Given the description of an element on the screen output the (x, y) to click on. 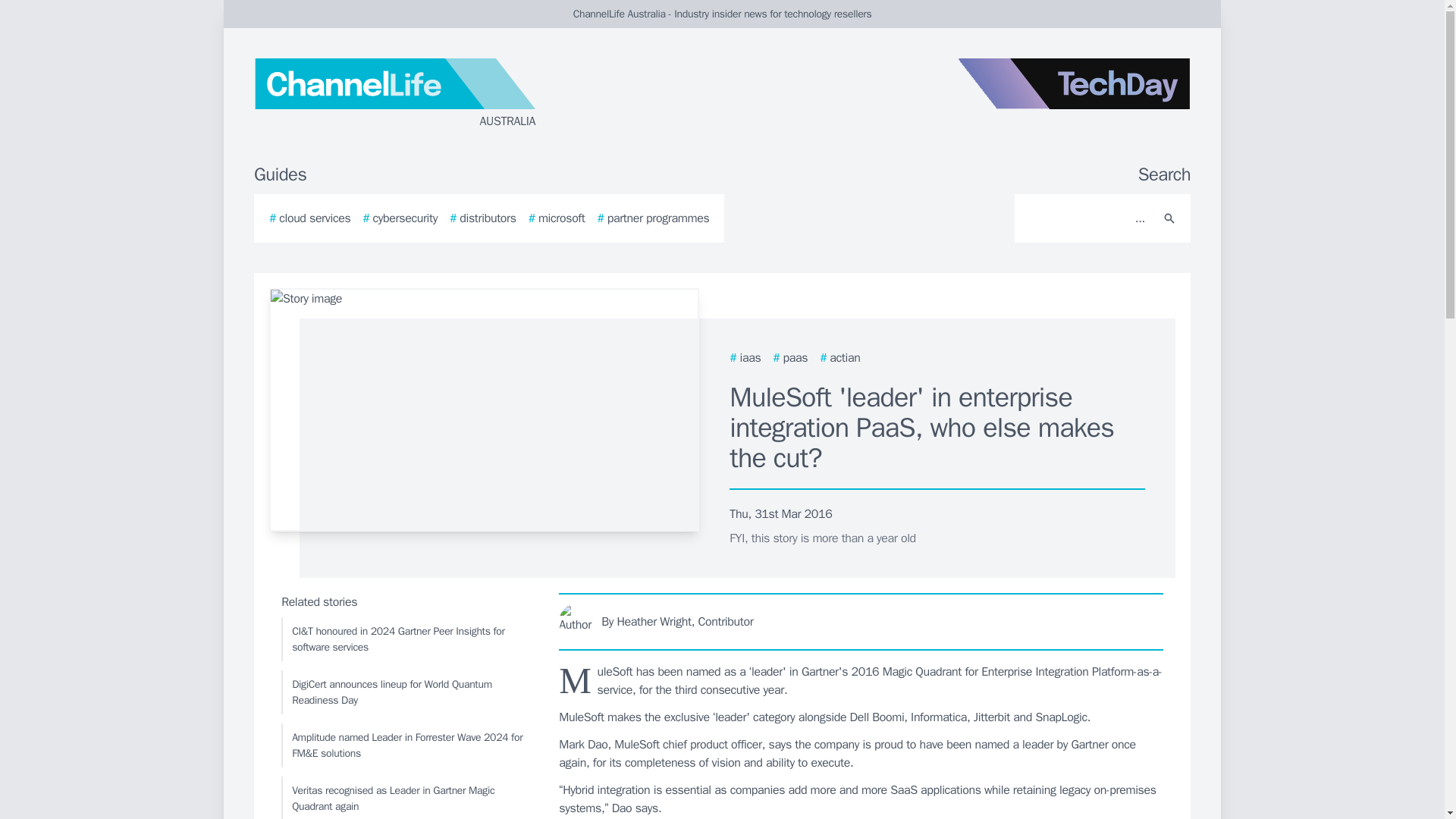
Veritas recognised as Leader in Gartner Magic Quadrant again (406, 797)
AUSTRALIA (435, 94)
By Heather Wright, Contributor (861, 621)
DigiCert announces lineup for World Quantum Readiness Day (406, 692)
